Given the description of an element on the screen output the (x, y) to click on. 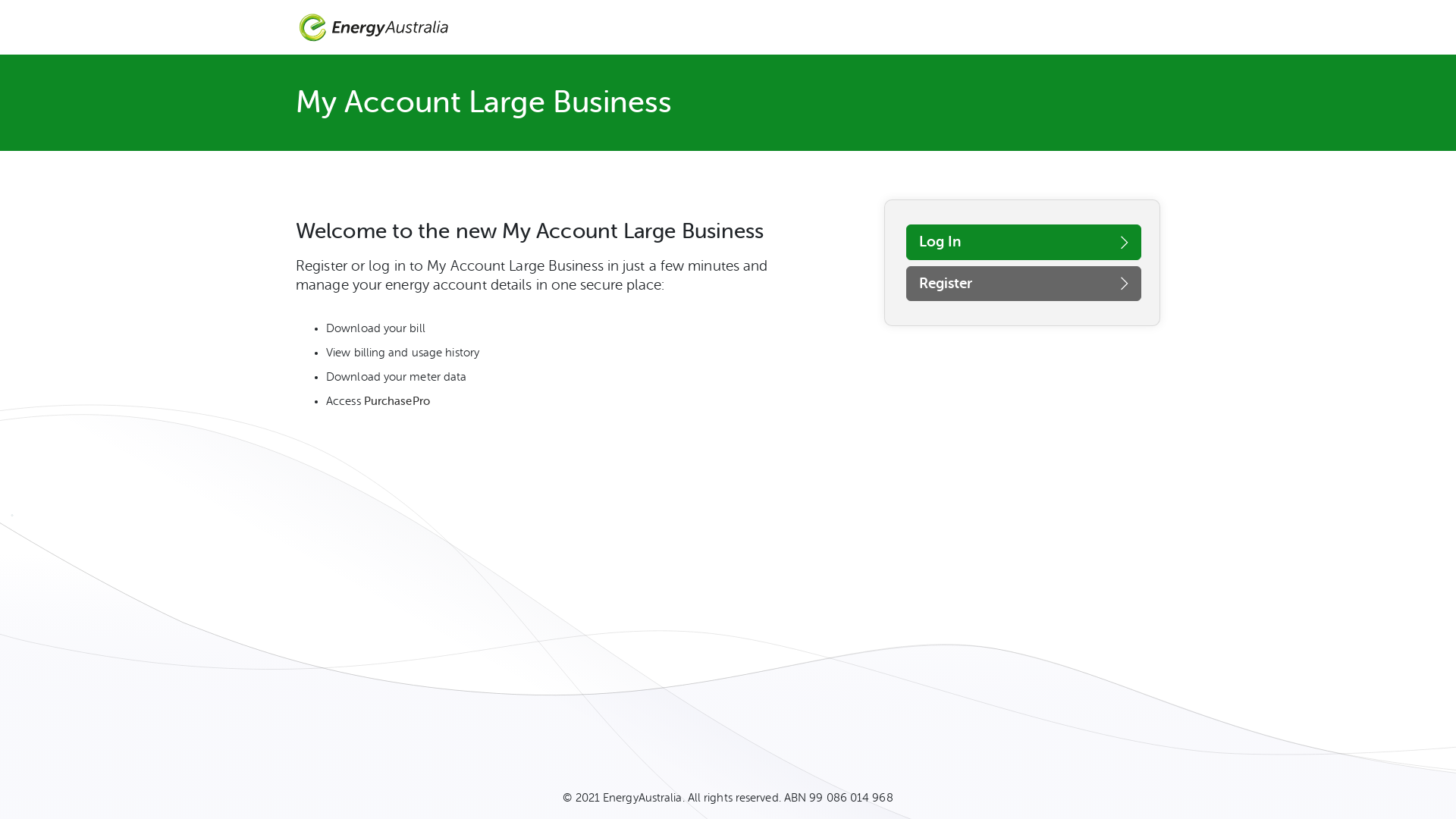
Log In Element type: text (1023, 242)
Register Element type: text (1023, 283)
PurchasePro Element type: text (396, 401)
